Given the description of an element on the screen output the (x, y) to click on. 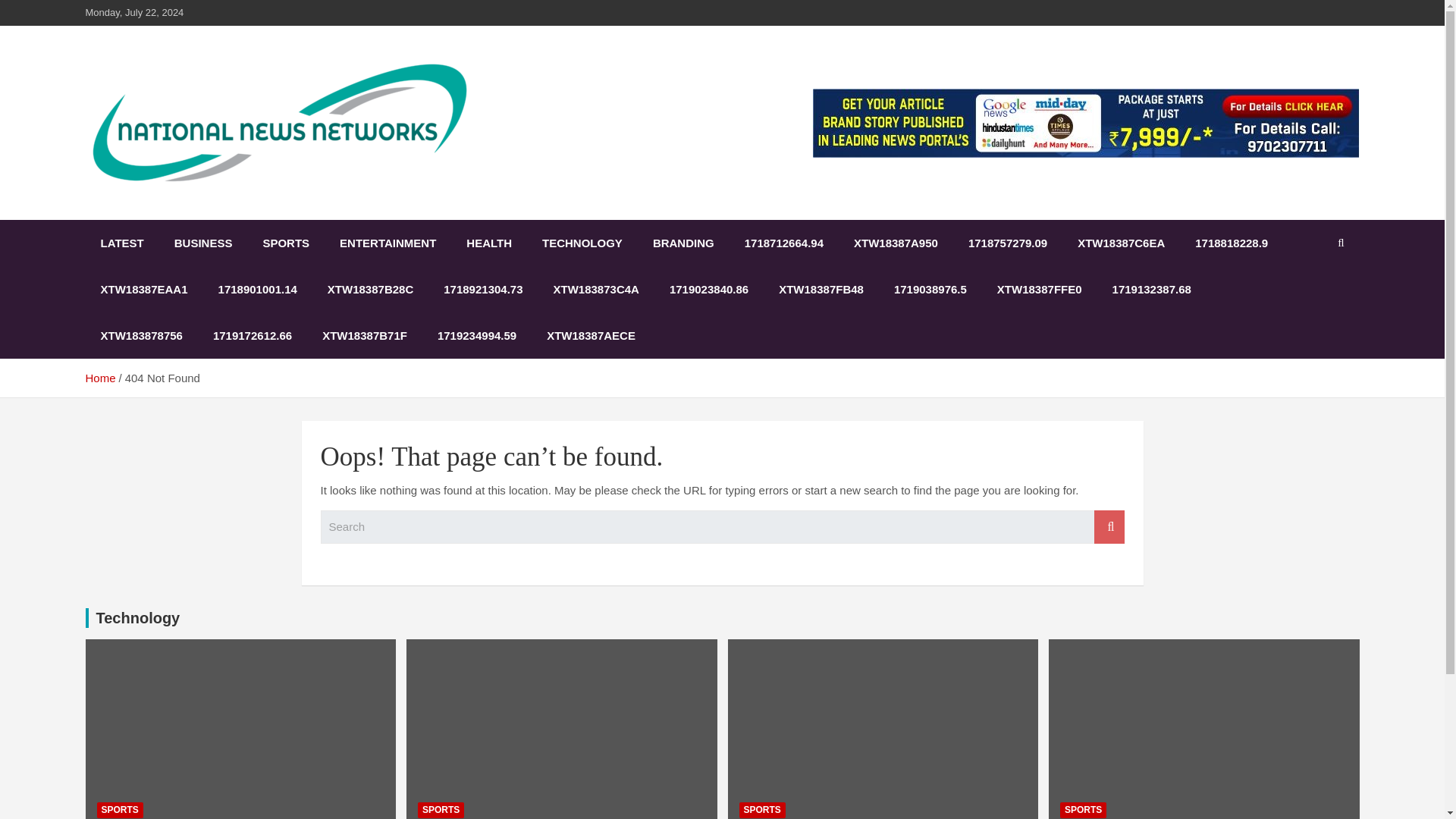
Technology (137, 617)
XTW18387C6EA (1120, 243)
XTW18387B28C (370, 289)
1719172612.66 (252, 335)
1719038976.5 (930, 289)
TECHNOLOGY (582, 243)
XTW18387AECE (590, 335)
XTW18387EAA1 (143, 289)
XTW18387B71F (364, 335)
XTW18387FFE0 (1039, 289)
1718901001.14 (258, 289)
BRANDING (683, 243)
SPORTS (119, 810)
XTW183873C4A (595, 289)
1719023840.86 (707, 289)
